Given the description of an element on the screen output the (x, y) to click on. 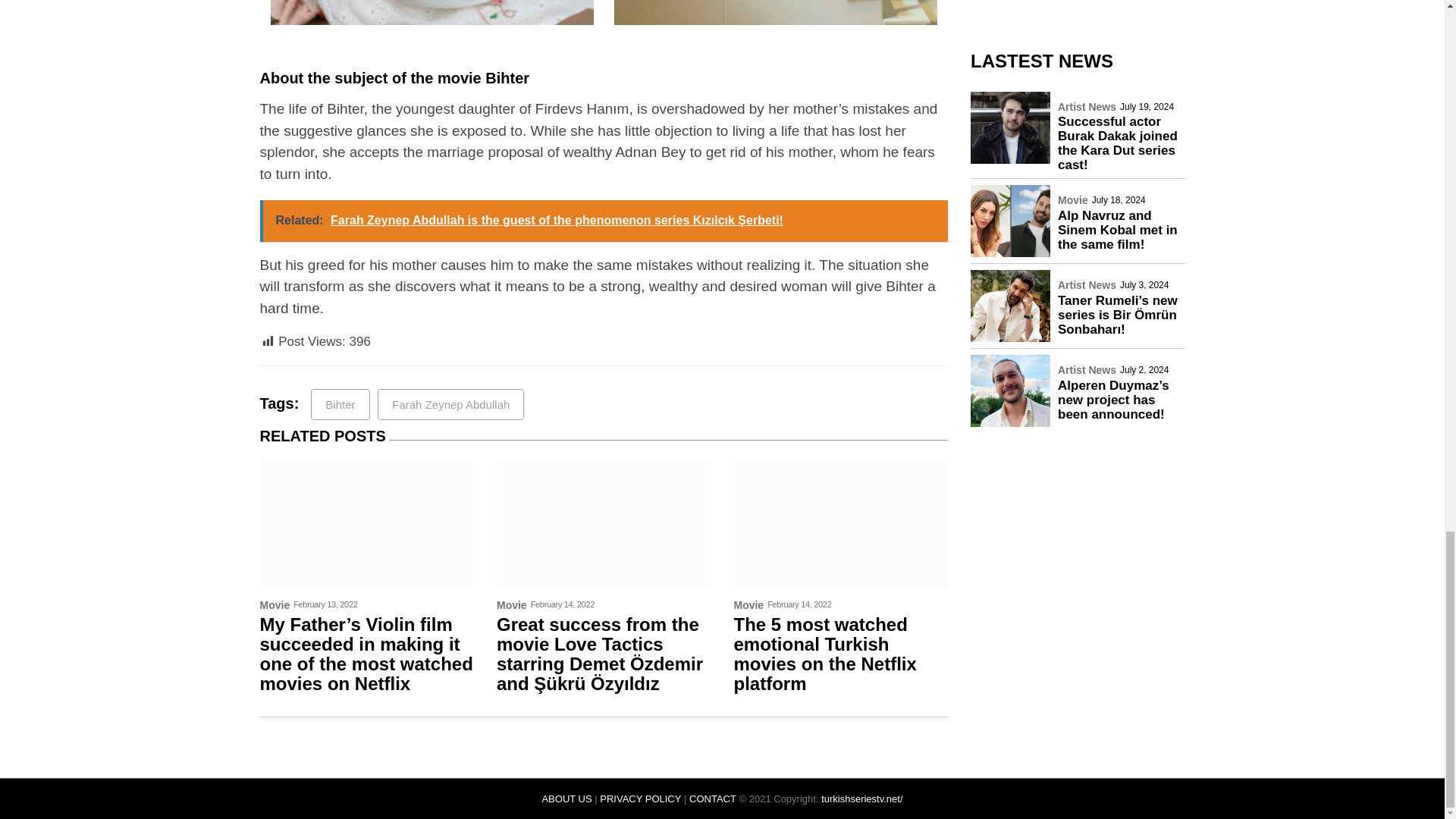
Farah Zeynep Abdullah (450, 404)
Bihter (340, 404)
